Given the description of an element on the screen output the (x, y) to click on. 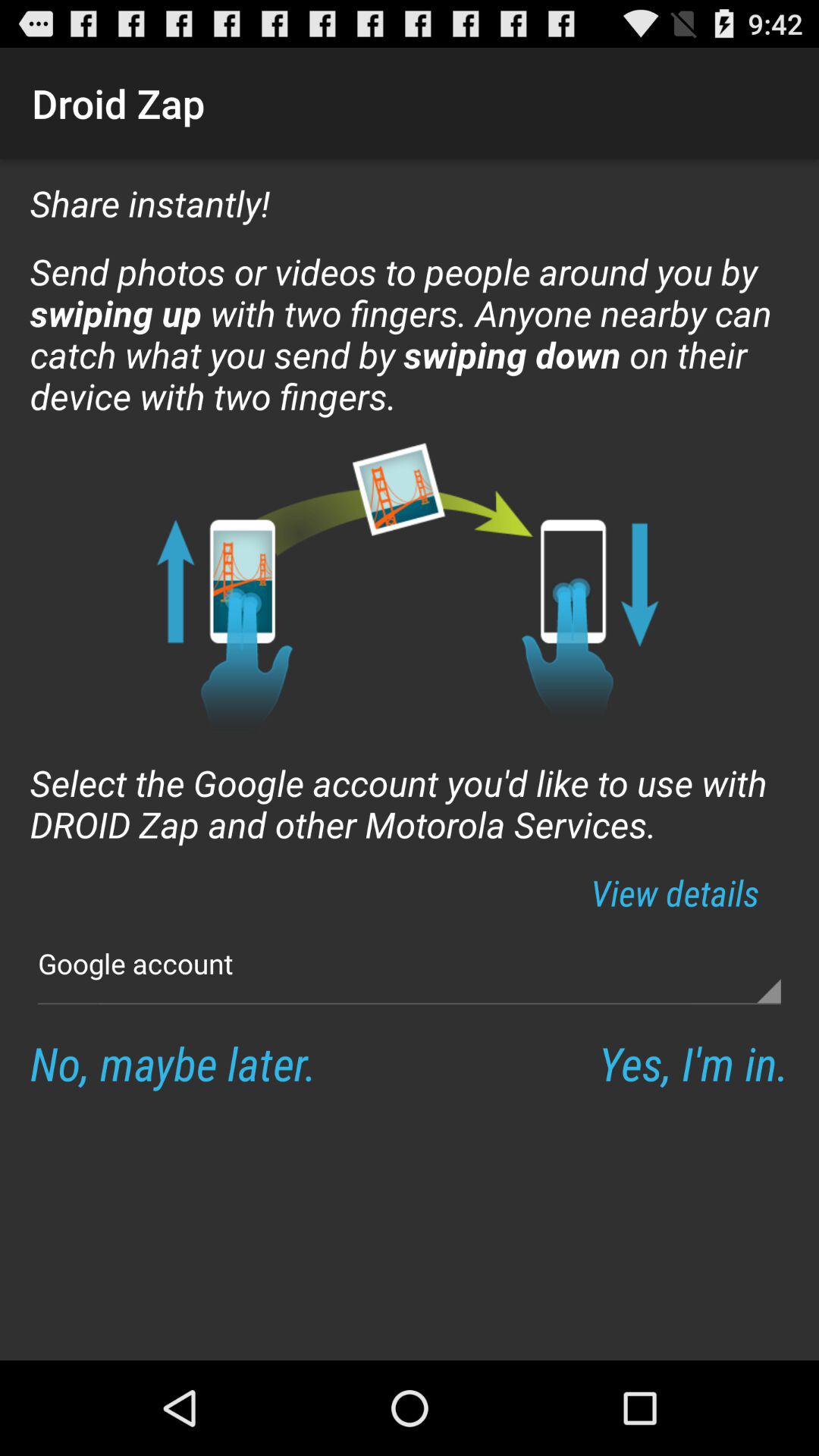
tap icon to the left of the yes i m (173, 1062)
